Given the description of an element on the screen output the (x, y) to click on. 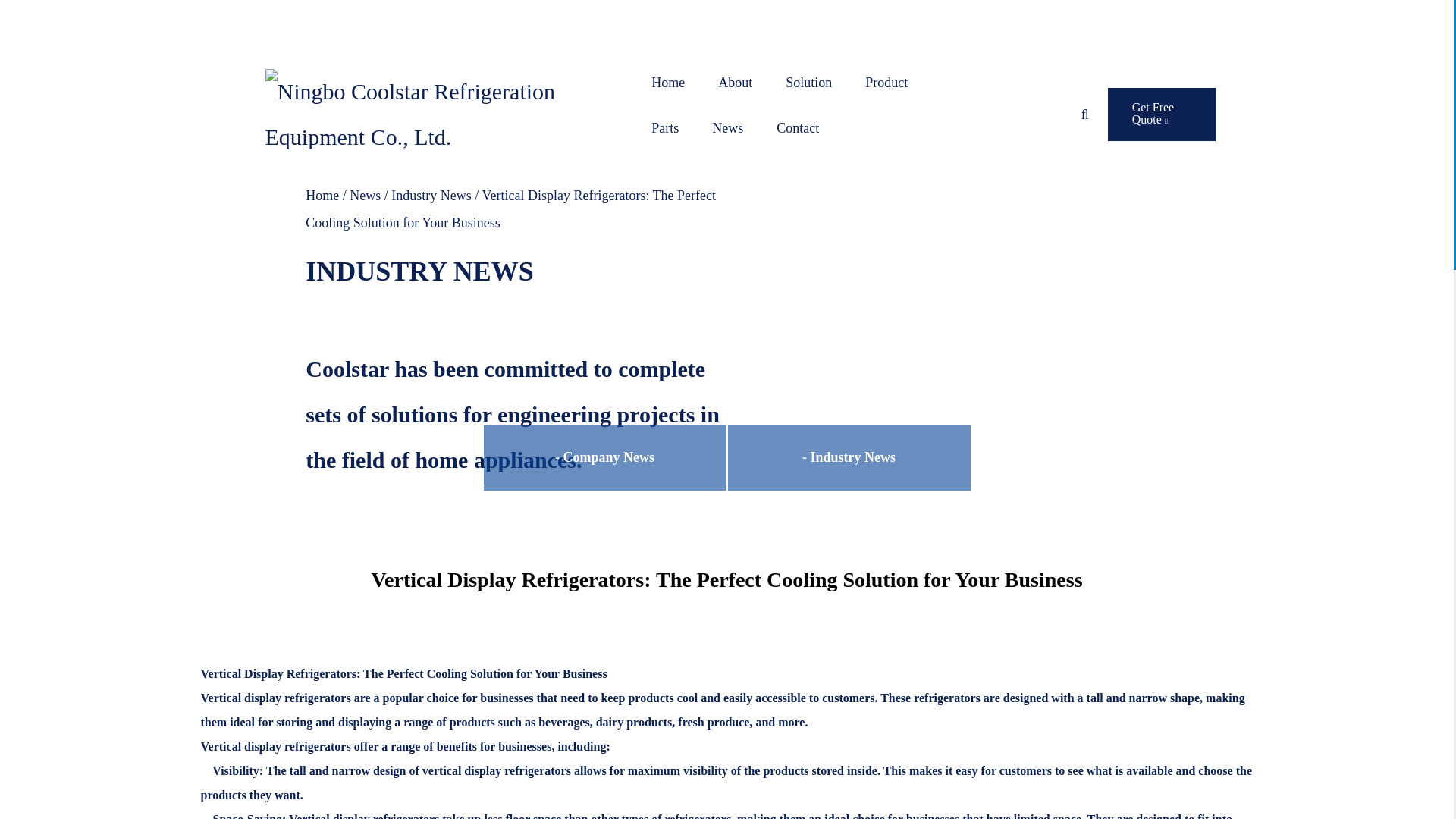
News (726, 127)
About (734, 82)
Solution (808, 82)
Home (667, 82)
Product (885, 82)
Parts (664, 127)
Contact (797, 127)
